Given the description of an element on the screen output the (x, y) to click on. 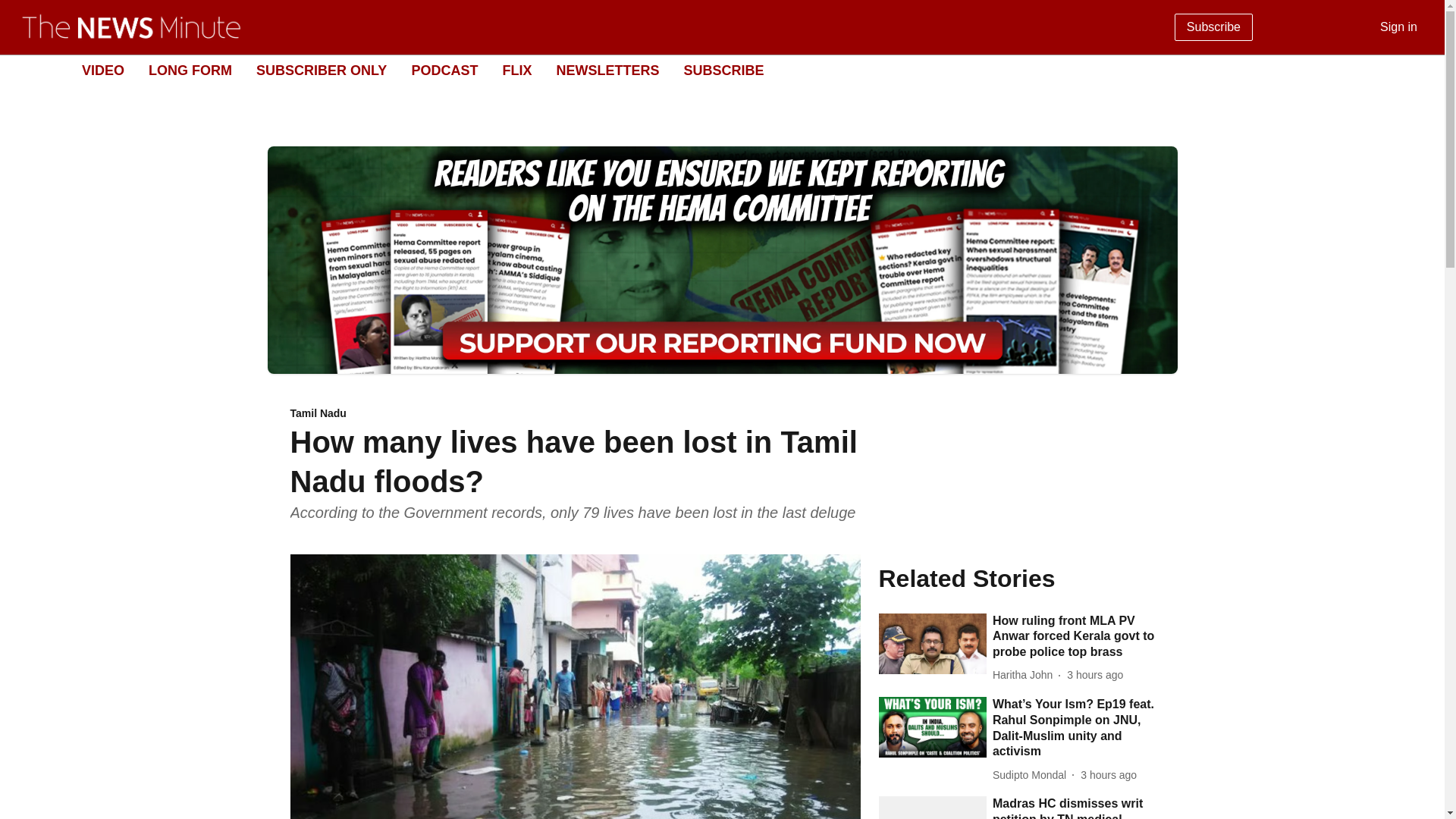
2024-09-03 06:39 (1108, 774)
SUBSCRIBER ONLY (321, 70)
Related Stories (1015, 577)
FLIX (516, 70)
Tamil Nadu (574, 414)
SUBSCRIBE (722, 70)
2024-09-03 07:14 (1094, 675)
VIDEO (102, 70)
NEWSLETTERS (607, 70)
